Given the description of an element on the screen output the (x, y) to click on. 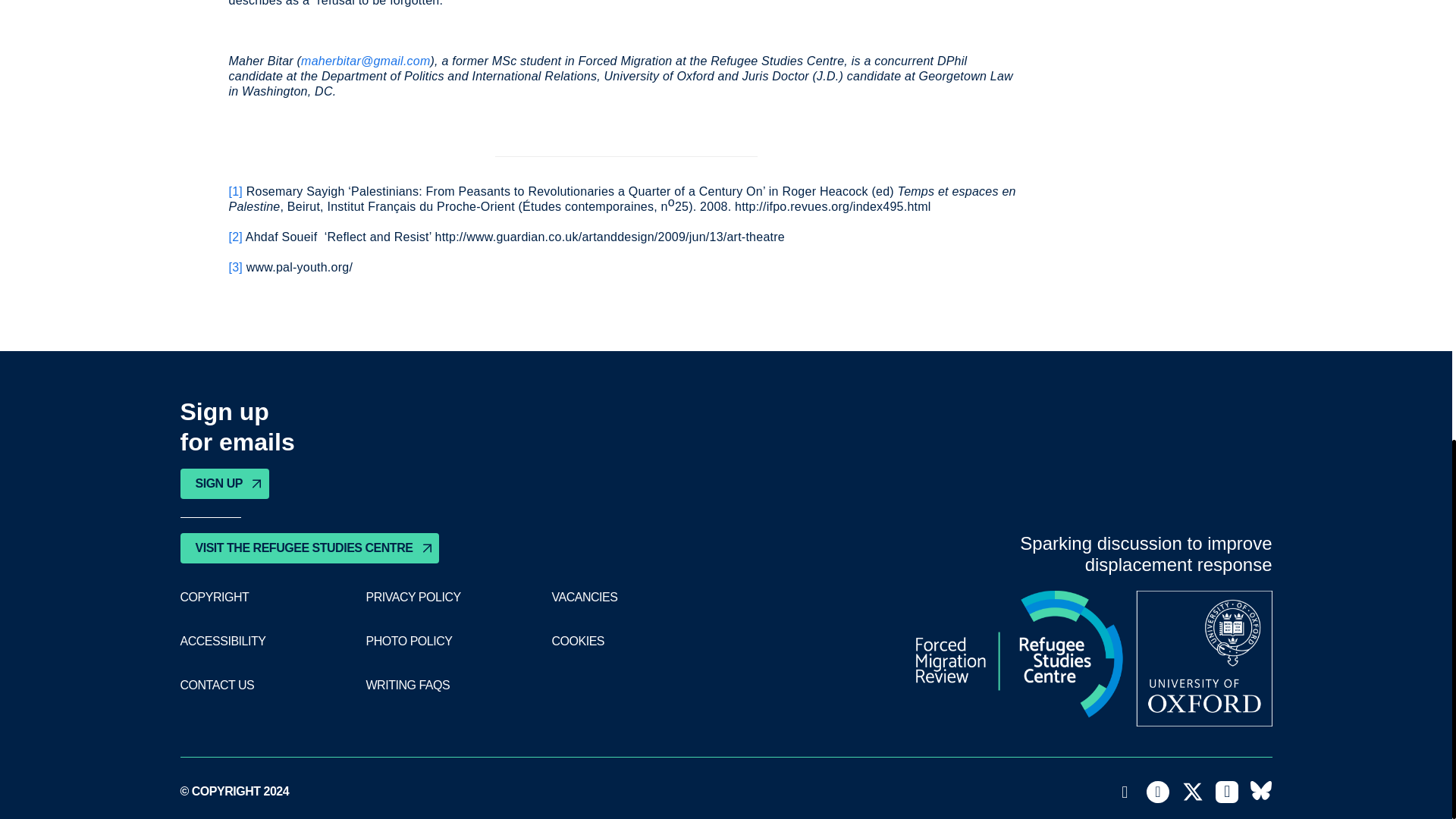
Facebook (1158, 792)
COOKIES (578, 641)
LinkedIn (1227, 792)
WRITING FAQS (407, 685)
COPYRIGHT (214, 597)
CONTACT US (217, 685)
SIGN UP (224, 483)
VISIT THE REFUGEE STUDIES CENTRE (309, 548)
Twitter (1192, 792)
Facebook (1158, 792)
Email (1124, 791)
Twitter (1192, 792)
PHOTO POLICY (408, 641)
Email (1124, 791)
ACCESSIBILITY (223, 641)
